Given the description of an element on the screen output the (x, y) to click on. 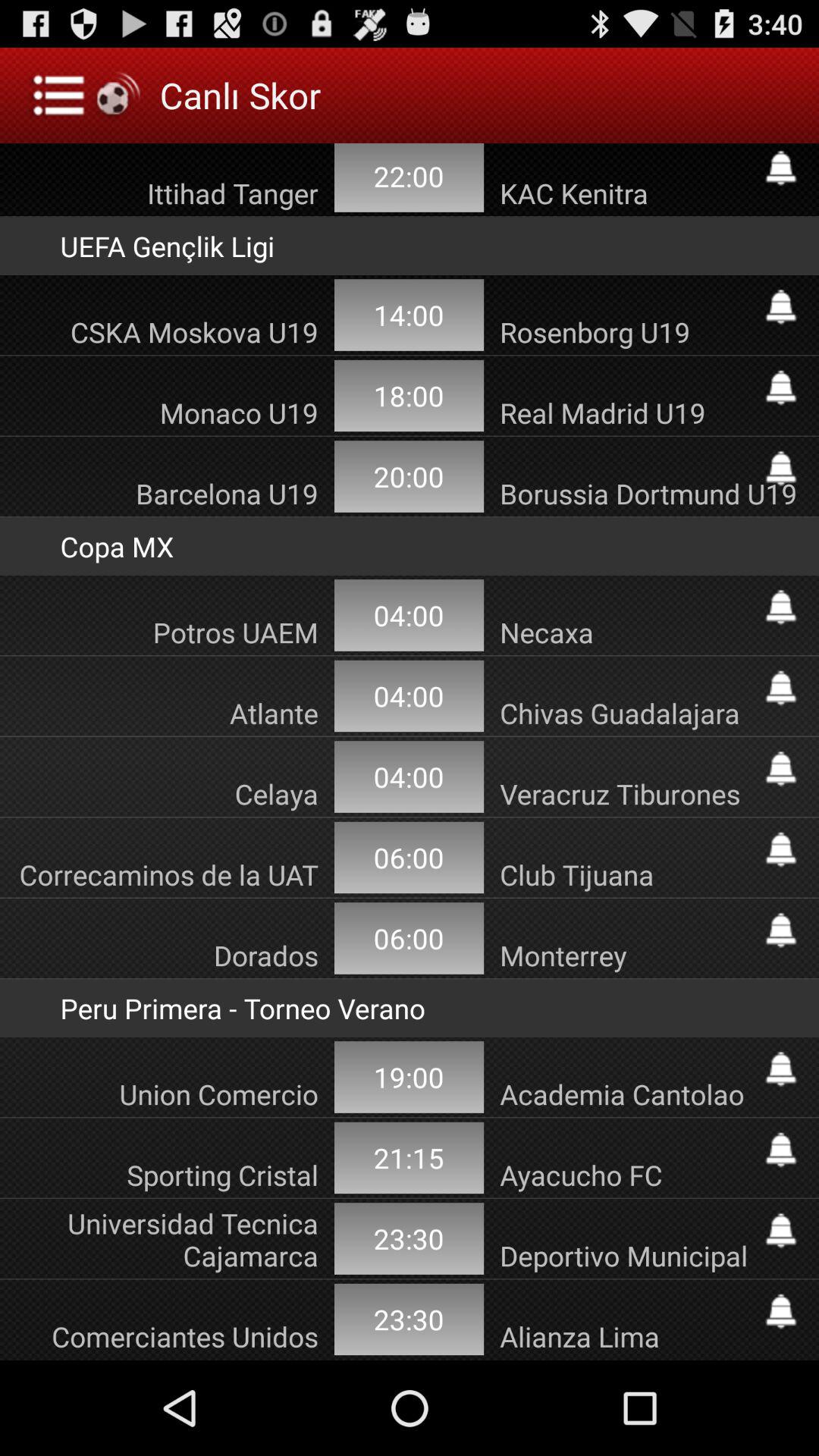
follow comerciantes unidos alianza lima (780, 1311)
